Given the description of an element on the screen output the (x, y) to click on. 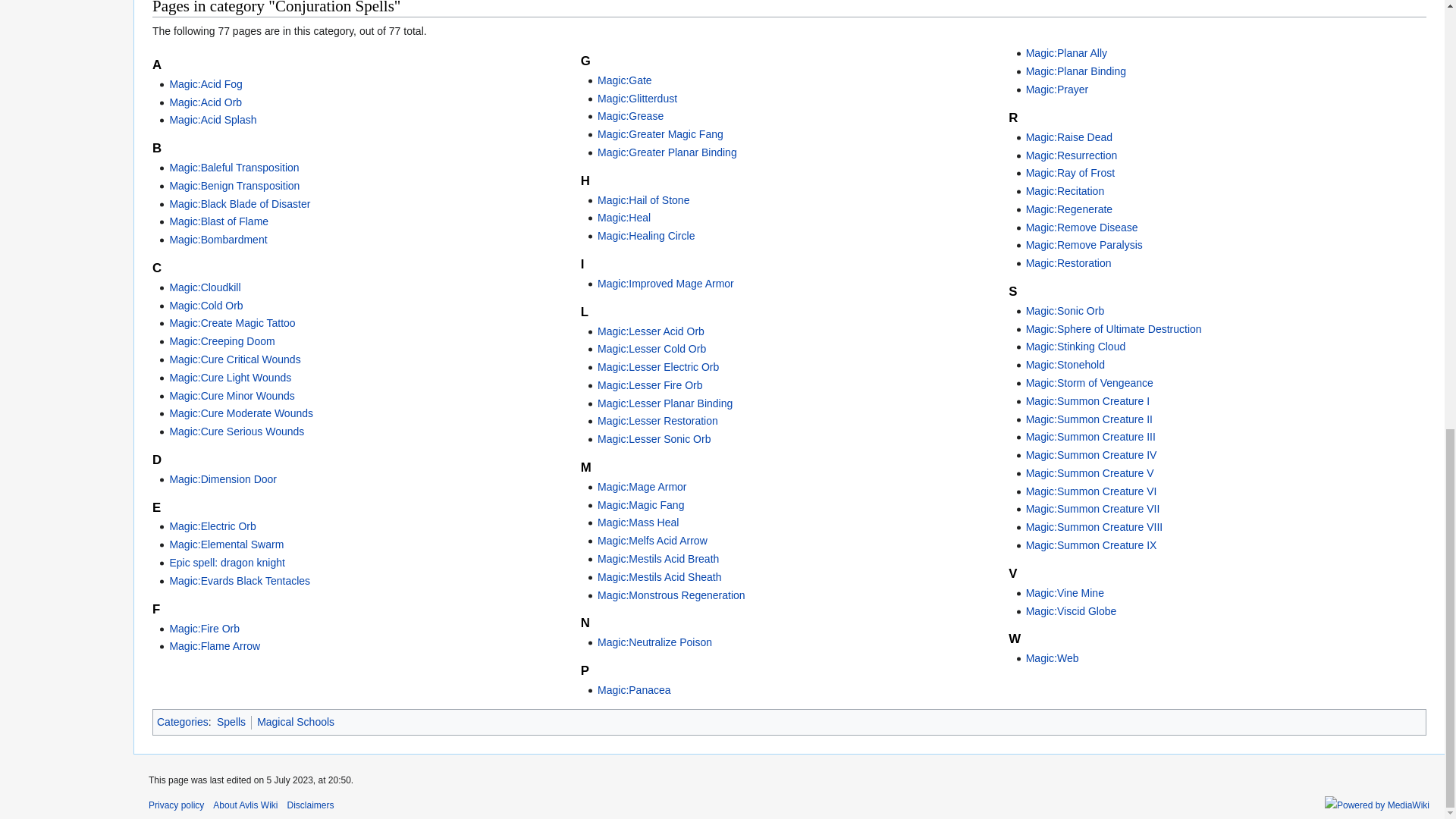
Magic:Black Blade of Disaster (239, 203)
Magic:Elemental Swarm (225, 544)
Magic:Glitterdust (636, 98)
Magic:Acid Fog (204, 83)
Magic:Cure Critical Wounds (233, 358)
Magic:Cure Serious Wounds (236, 431)
Magic:Cloudkill (204, 287)
Magic:Acid Fog (204, 83)
Magic:Acid Orb (204, 102)
Magic:Cure Minor Wounds (231, 395)
